Given the description of an element on the screen output the (x, y) to click on. 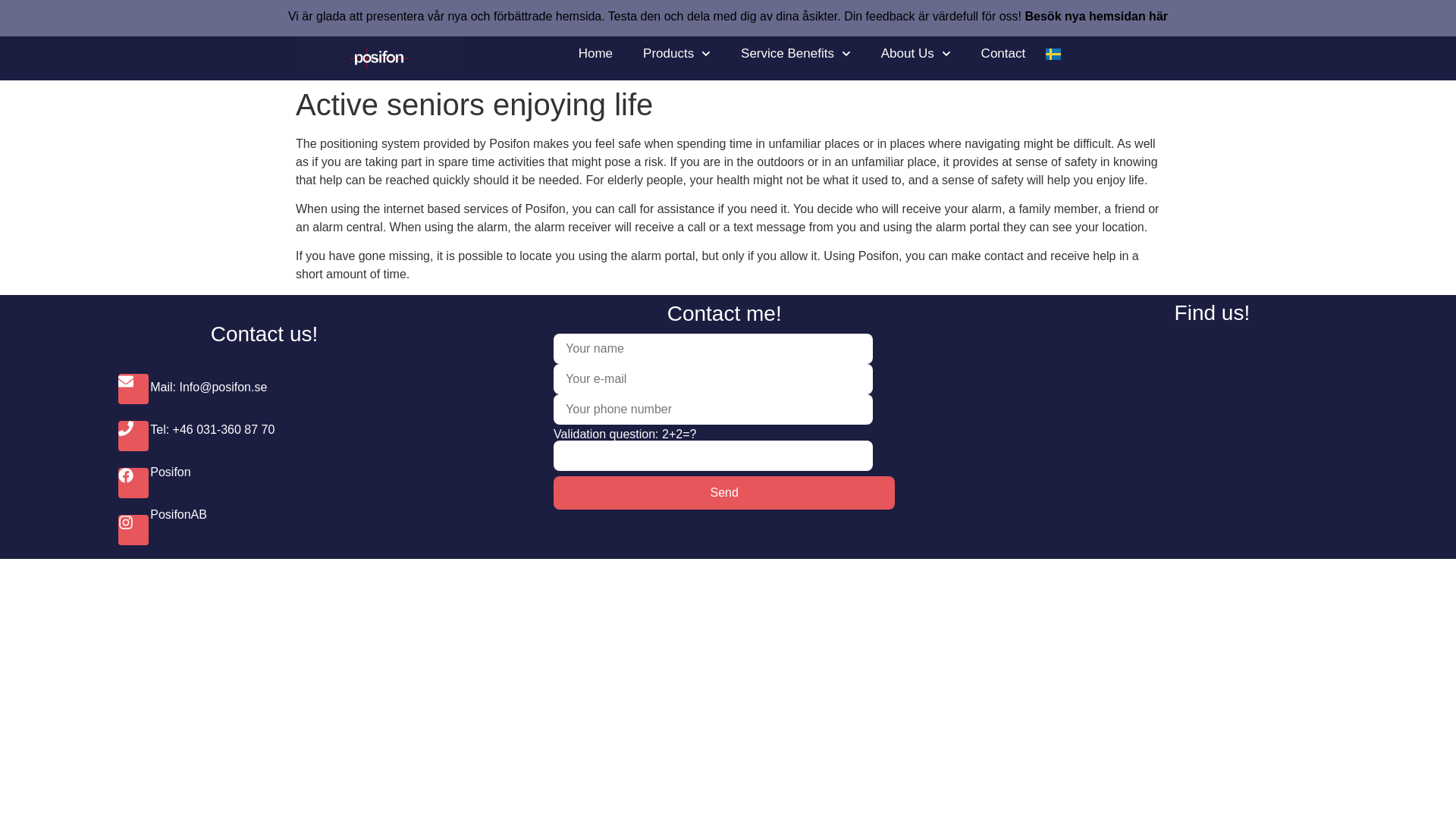
Service Benefits (795, 53)
Contact (1003, 53)
Products (676, 53)
Send (724, 492)
About Us (916, 53)
Home (595, 53)
